Given the description of an element on the screen output the (x, y) to click on. 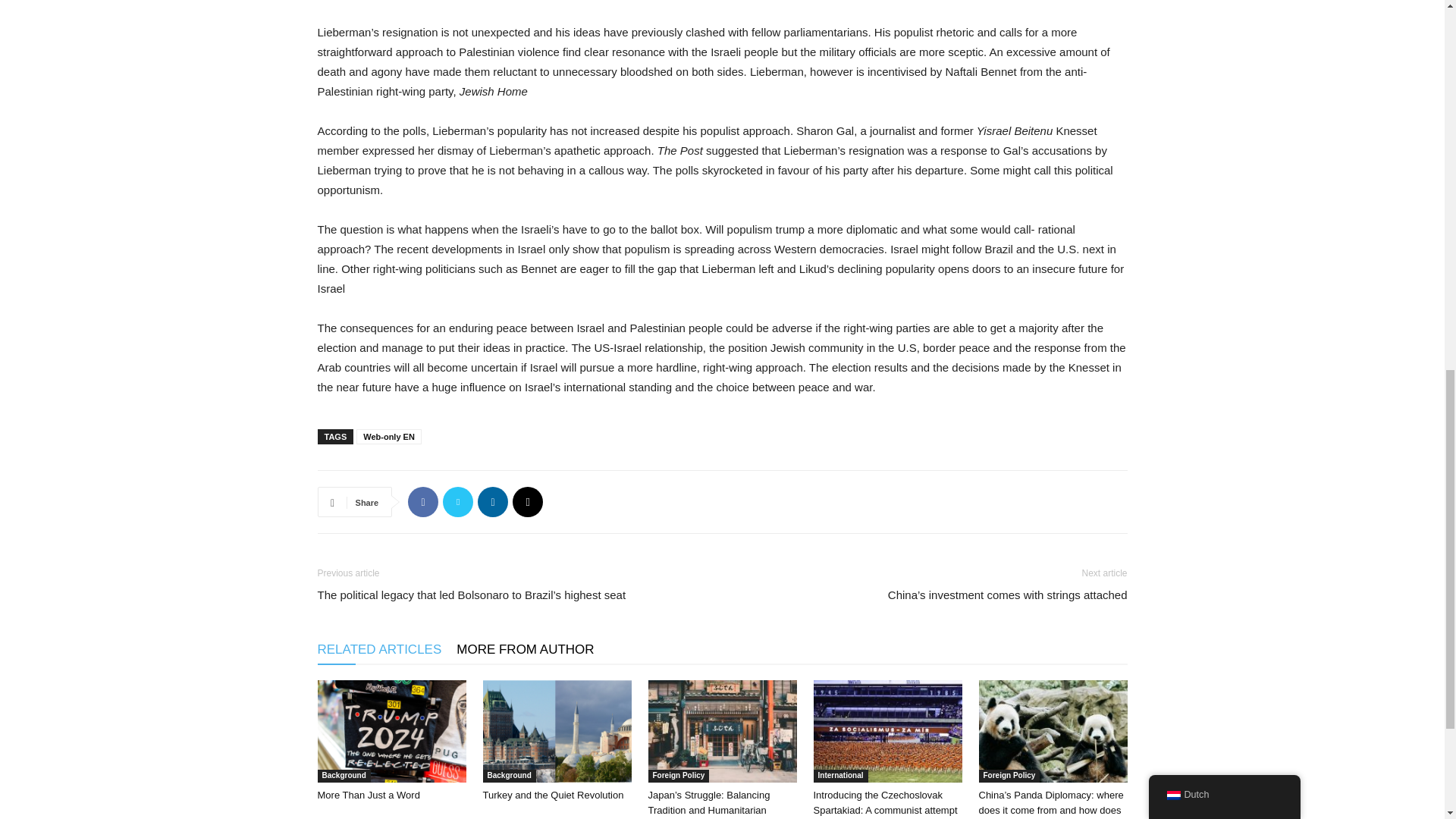
More Than Just a Word (368, 794)
More Than Just a Word (391, 731)
Turkey and the Quiet Revolution (552, 794)
Turkey and the Quiet Revolution (555, 731)
